Given the description of an element on the screen output the (x, y) to click on. 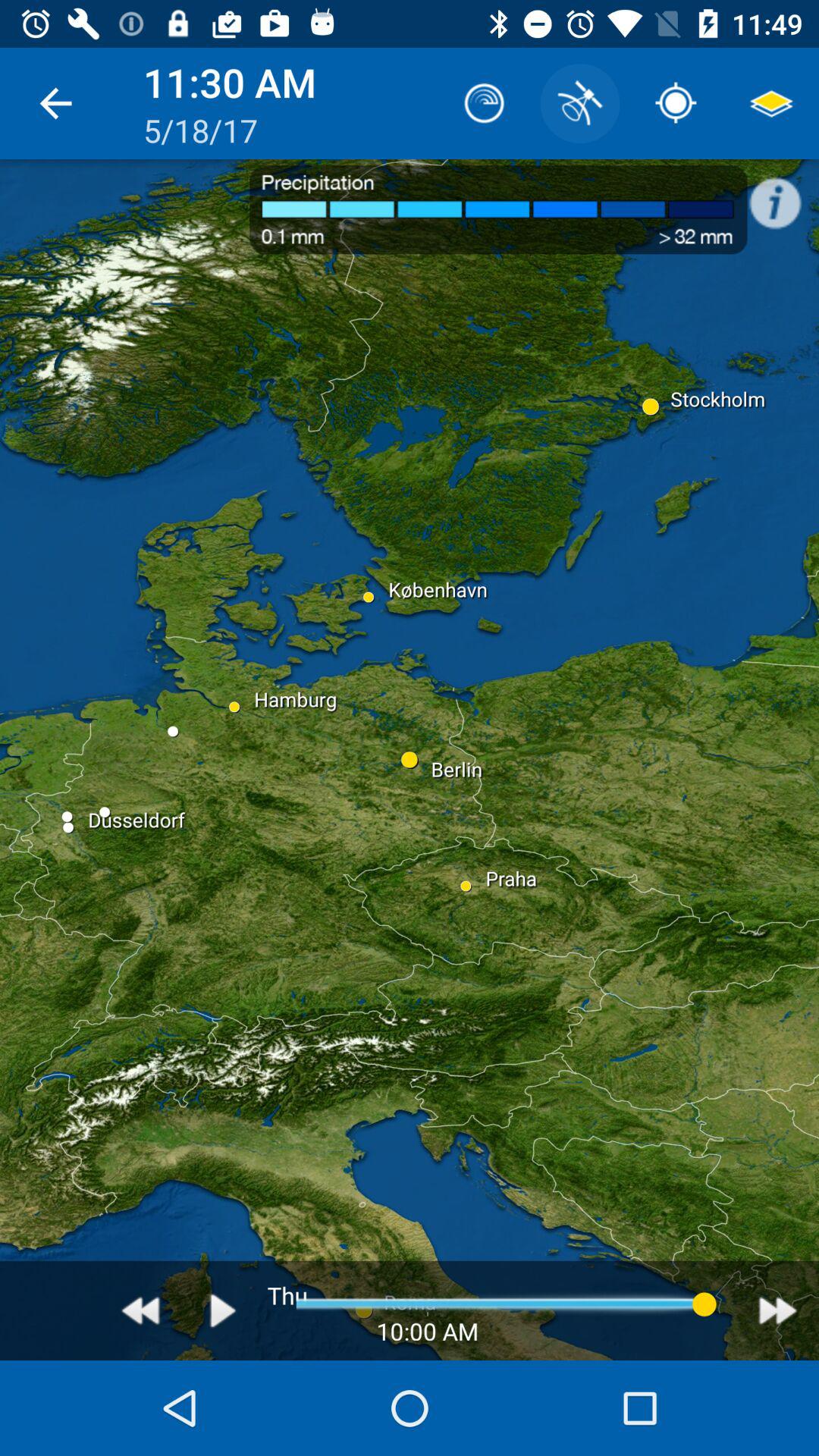
play (223, 1310)
